Given the description of an element on the screen output the (x, y) to click on. 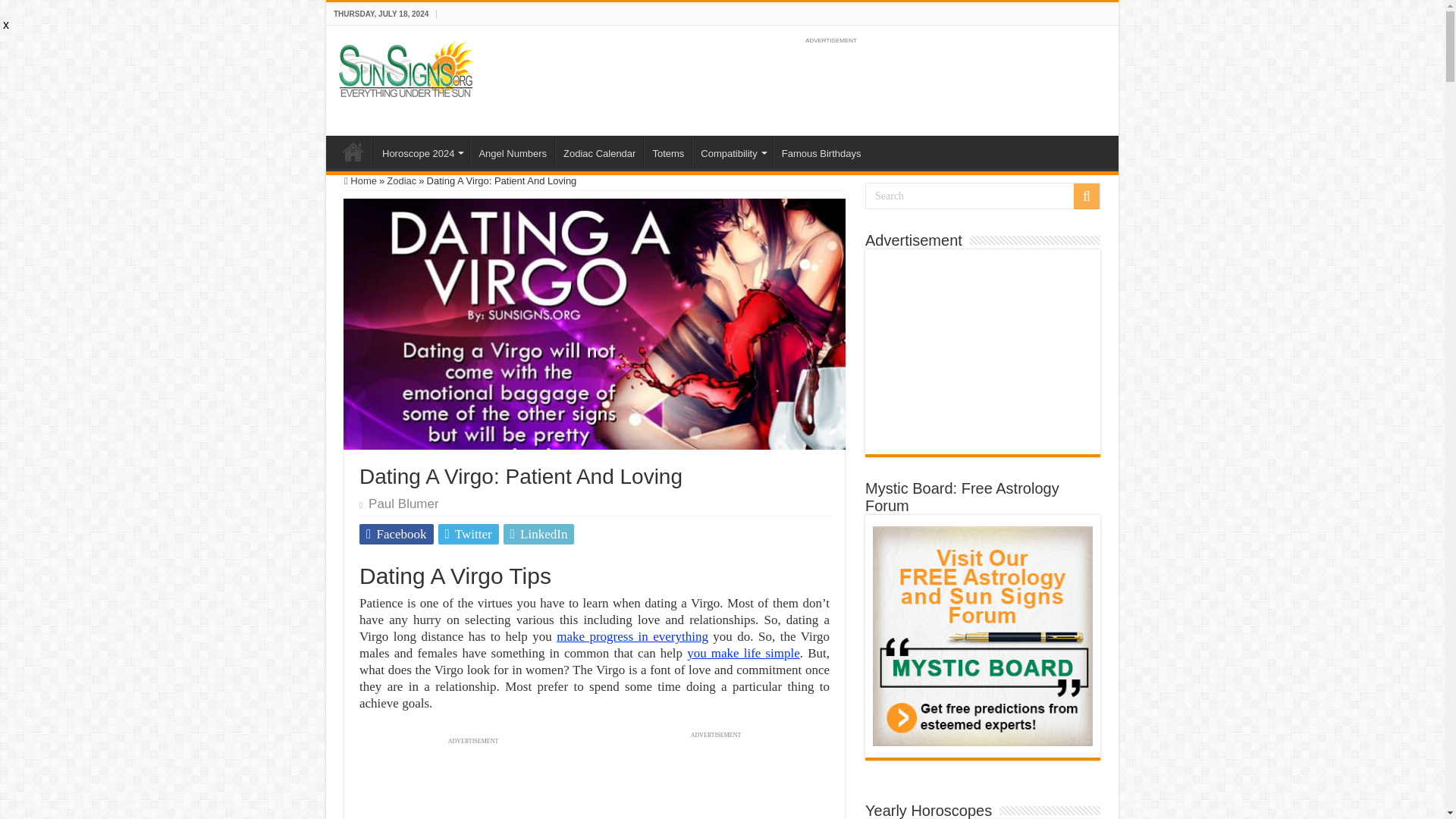
Sun Signs (352, 151)
Angel Numbers (512, 151)
Facebook (396, 534)
Paul Blumer (403, 503)
you make life simple (743, 653)
Totems (667, 151)
make progress in everything (631, 636)
3rd party ad content (830, 82)
LinkedIn (539, 534)
Home (360, 180)
Horoscope 2024 (421, 151)
Angel Numbers (512, 151)
Zodiac (401, 180)
Horoscope 2024 (421, 151)
Home (352, 151)
